Given the description of an element on the screen output the (x, y) to click on. 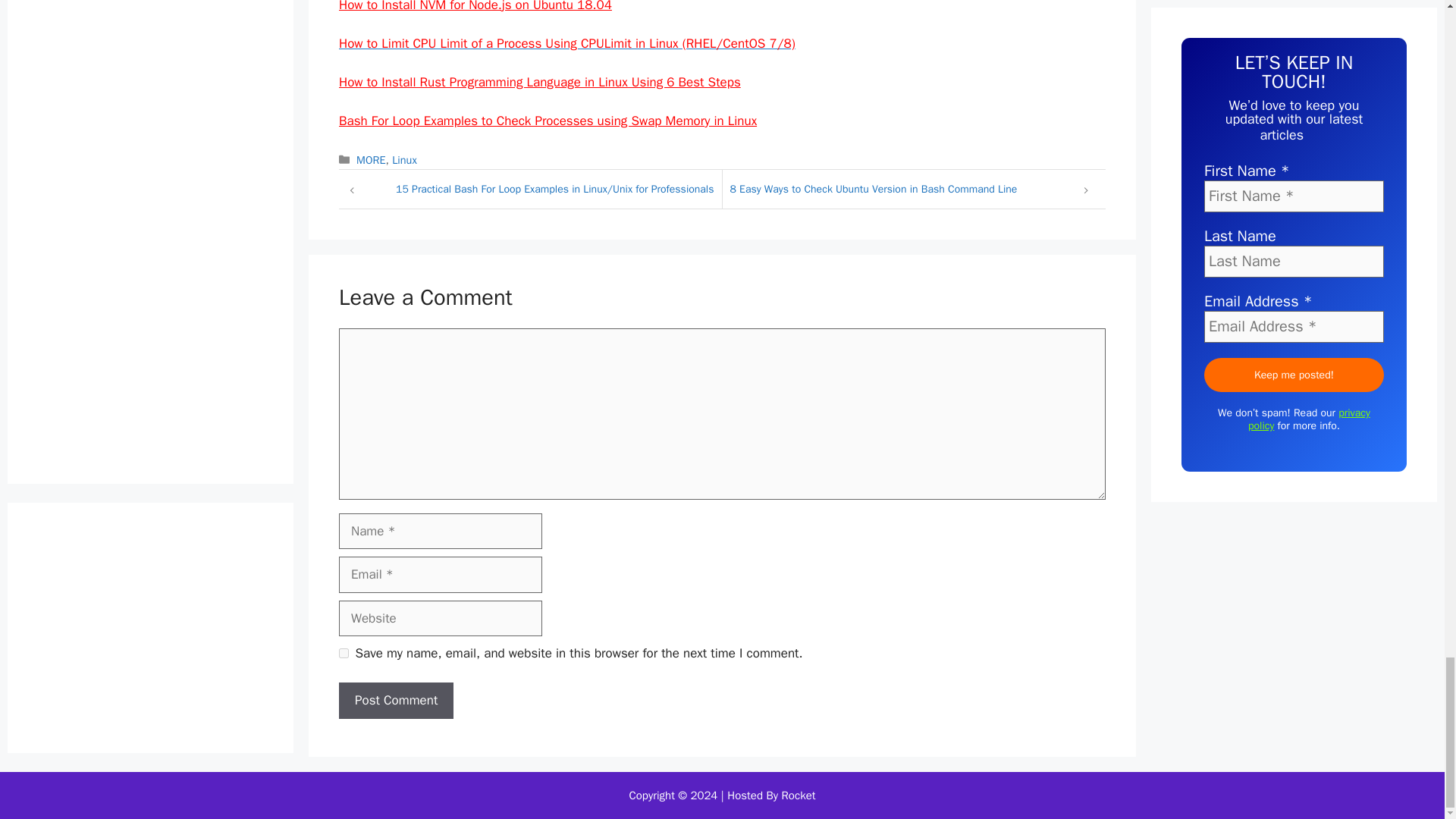
Keep me posted! (1294, 340)
First Name (1294, 162)
Email Address (1294, 292)
yes (344, 653)
Last Name (1294, 227)
Post Comment (395, 700)
